Given the description of an element on the screen output the (x, y) to click on. 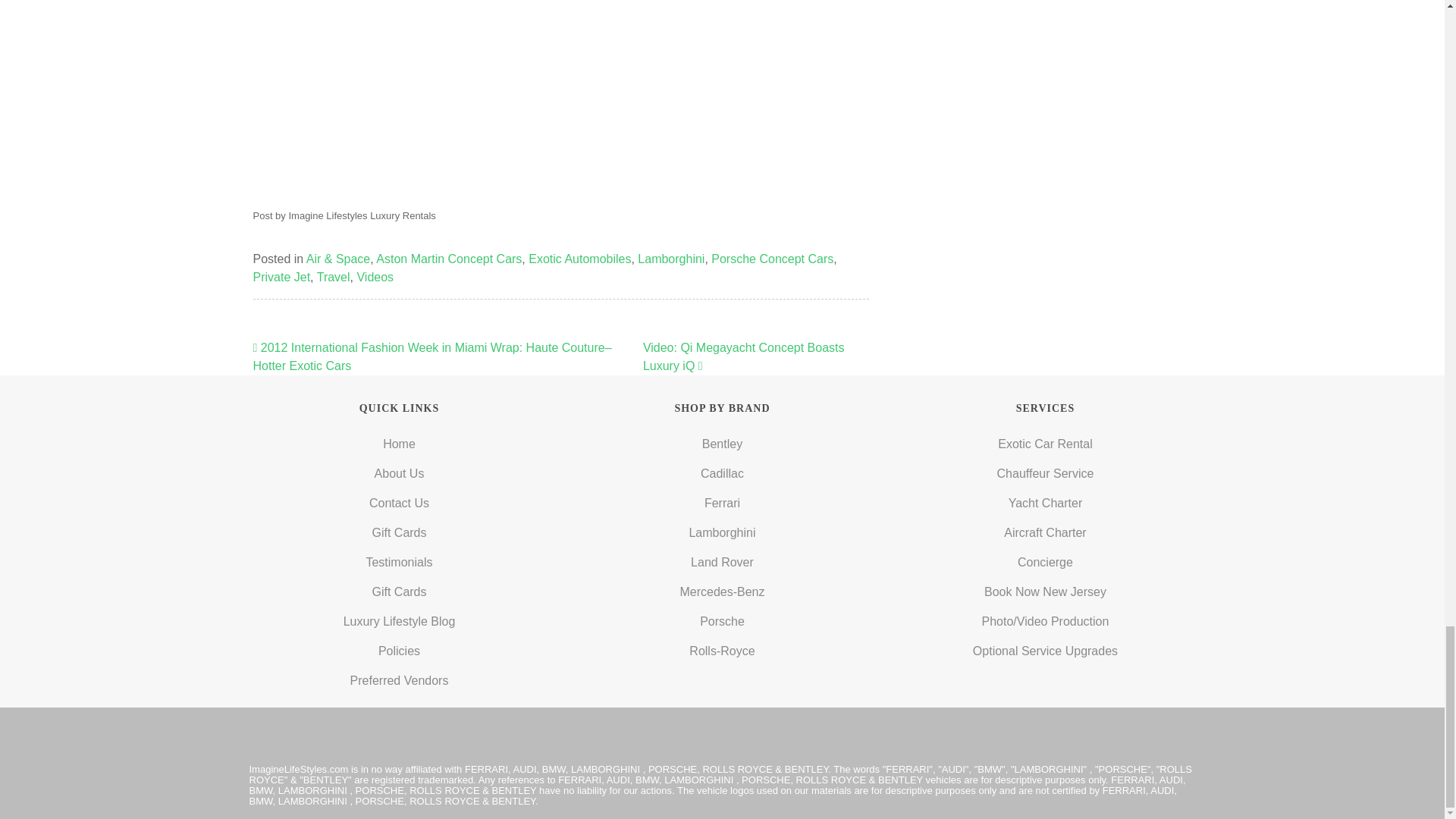
Travel (333, 277)
Private Jet (282, 277)
Exotic Automobiles (579, 258)
Lamborghini (670, 258)
Videos (374, 277)
Aston Martin Concept Cars (448, 258)
Porsche Concept Cars (771, 258)
